Given the description of an element on the screen output the (x, y) to click on. 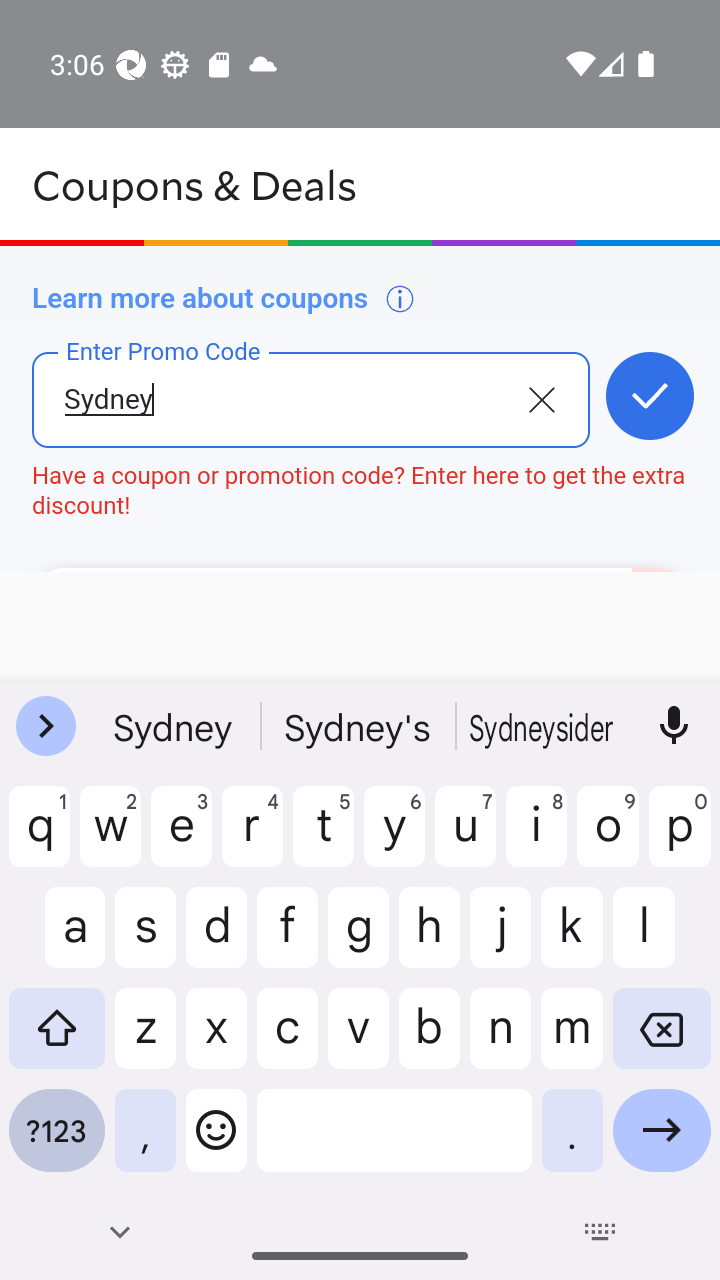
Learn more about coupons (224, 298)
Sydney (278, 415)
Clear (541, 398)
